Given the description of an element on the screen output the (x, y) to click on. 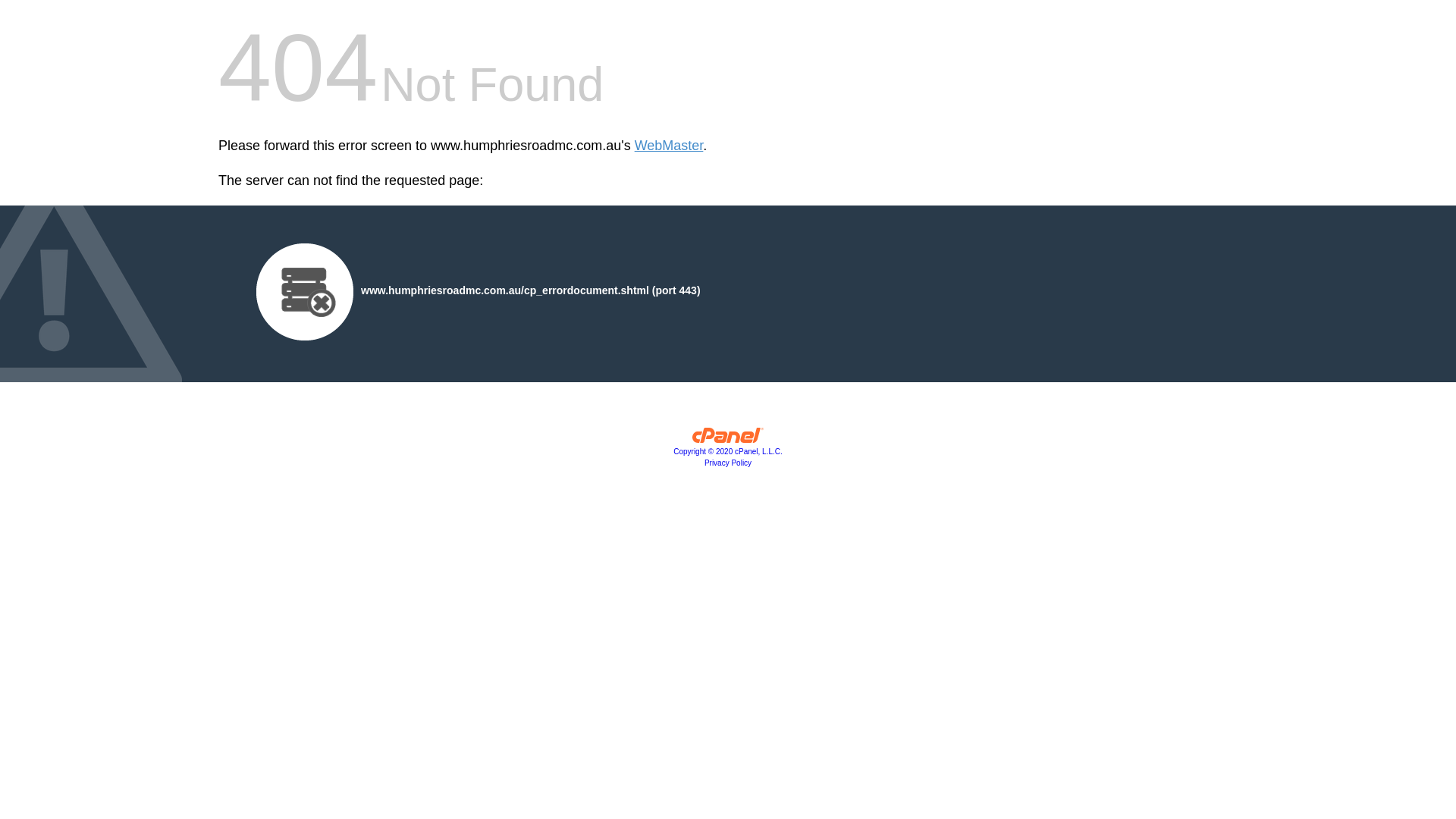
cPanel, Inc. Element type: hover (728, 439)
WebMaster Element type: text (668, 145)
Privacy Policy Element type: text (727, 462)
